Given the description of an element on the screen output the (x, y) to click on. 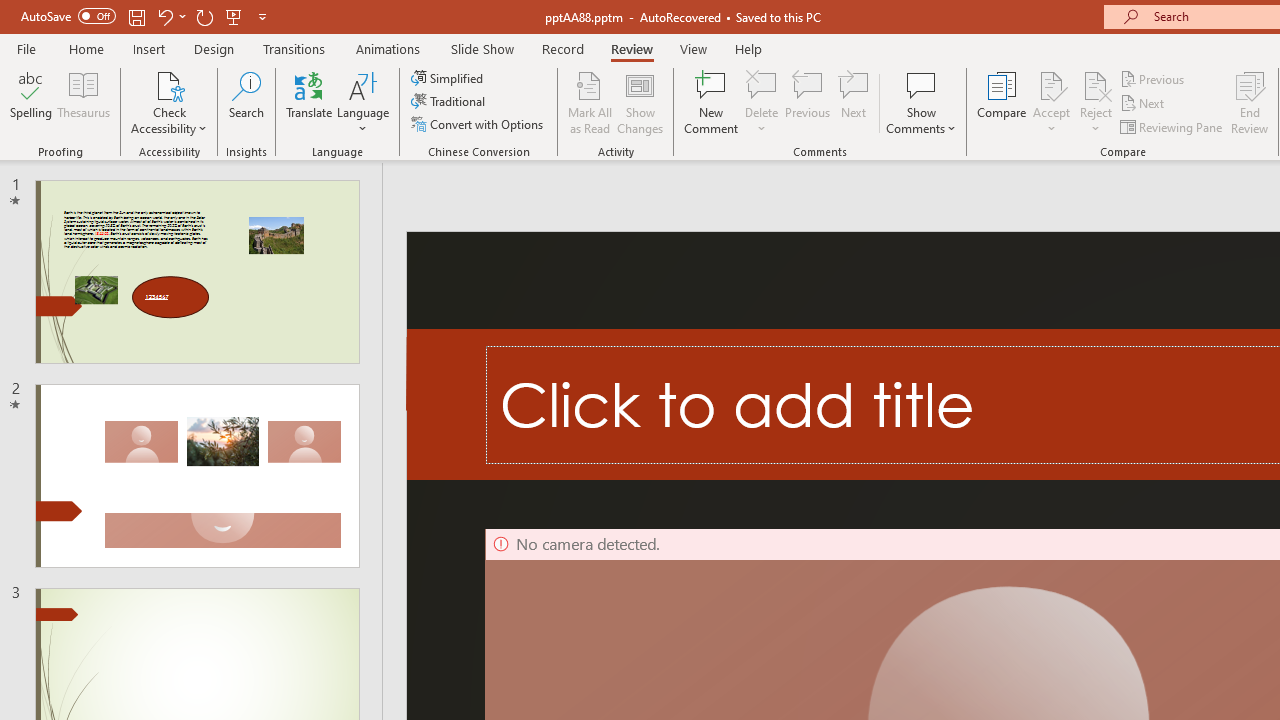
Previous (1153, 78)
Traditional (449, 101)
Accept Change (1051, 84)
Accept (1051, 102)
Search (246, 102)
New Comment (711, 102)
Simplified (449, 78)
Reject (1096, 102)
Reject Change (1096, 84)
